Given the description of an element on the screen output the (x, y) to click on. 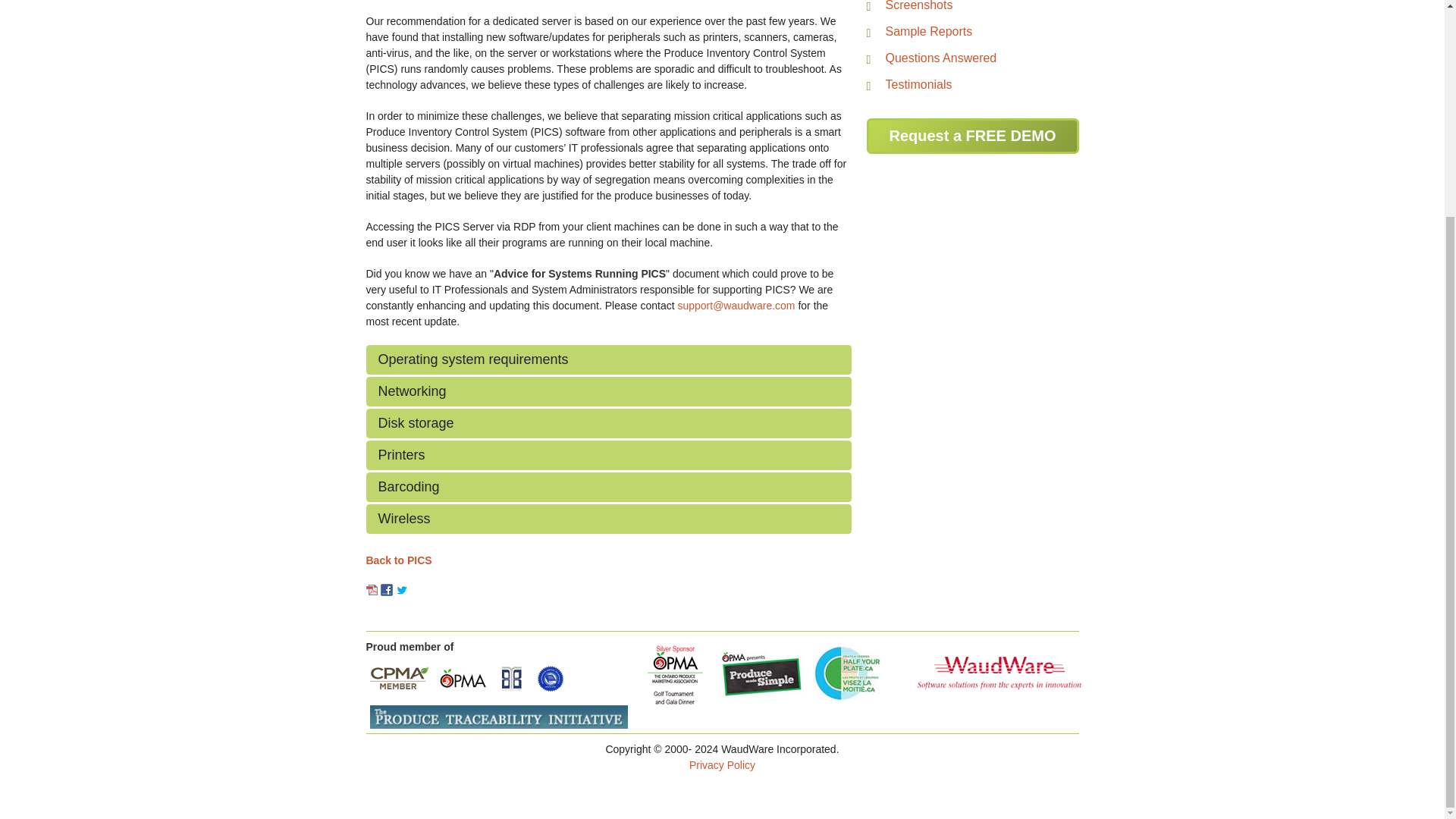
Back to PICS (397, 560)
